Given the description of an element on the screen output the (x, y) to click on. 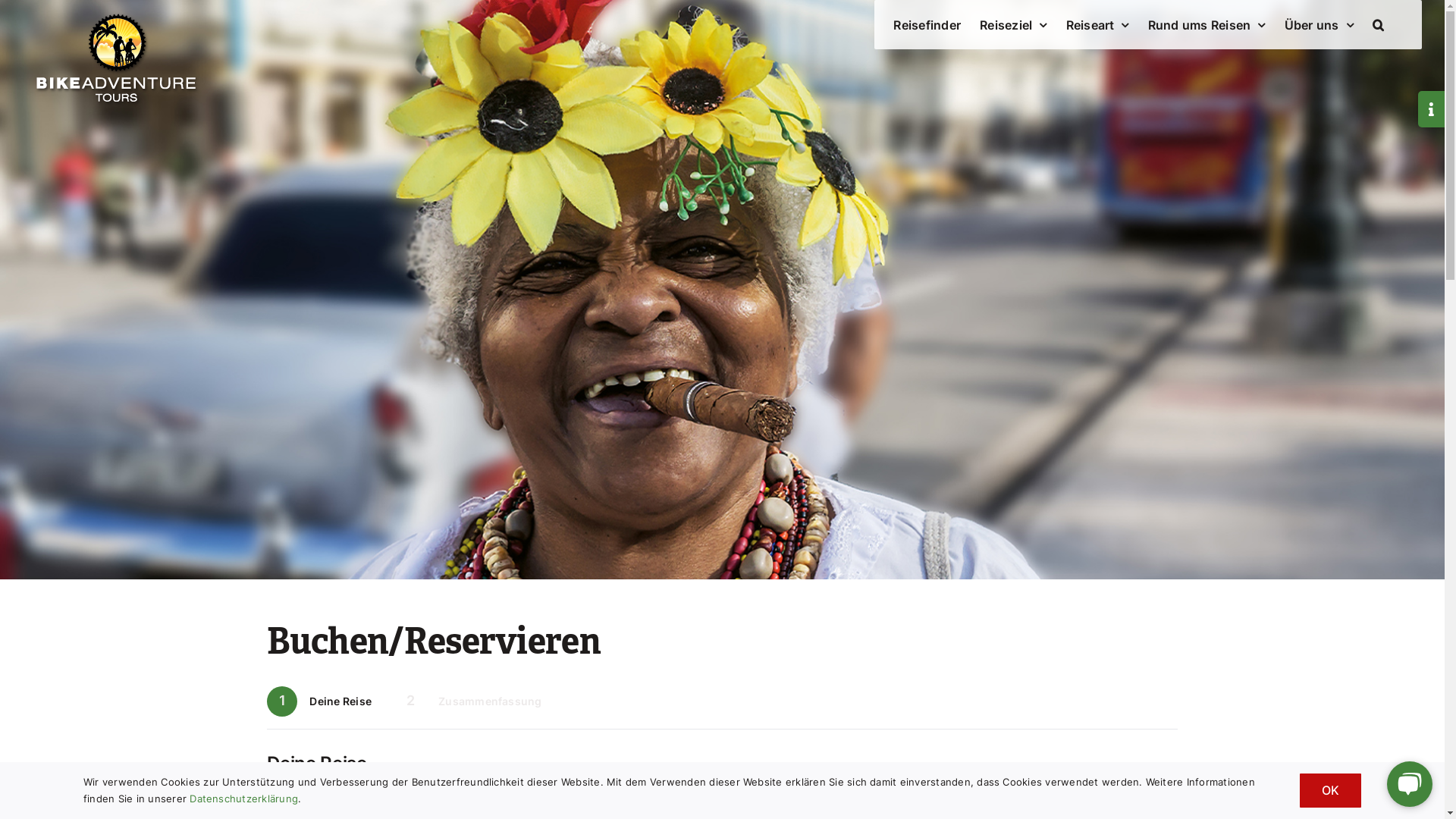
Suche Element type: hover (1377, 24)
Toggle Sliding Bar Area Element type: text (1431, 109)
Reisefinder Element type: text (926, 24)
Reiseziel Element type: text (1012, 24)
Rund ums Reisen Element type: text (1206, 24)
Reiseart Element type: text (1097, 24)
OK Element type: text (1330, 790)
